Given the description of an element on the screen output the (x, y) to click on. 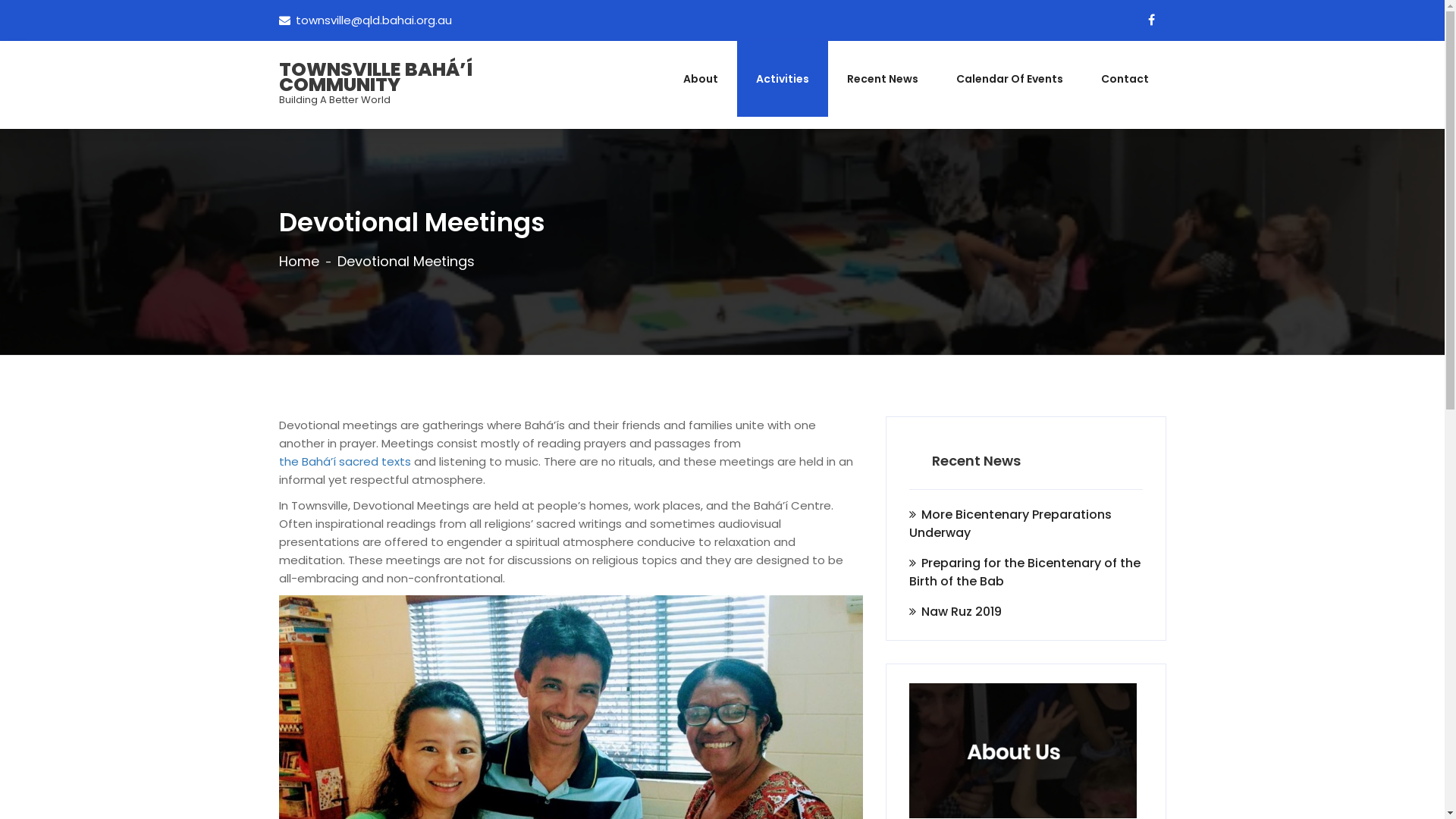
Contact Element type: text (1124, 78)
Recent News Element type: text (882, 78)
More Bicentenary Preparations Underway Element type: text (1025, 523)
Preparing for the Bicentenary of the Birth of the Bab Element type: text (1025, 571)
Calendar Of Events Element type: text (1009, 78)
About Element type: text (700, 78)
Naw Ruz 2019 Element type: text (954, 611)
Home Element type: text (299, 261)
Activities Element type: text (782, 78)
